Given the description of an element on the screen output the (x, y) to click on. 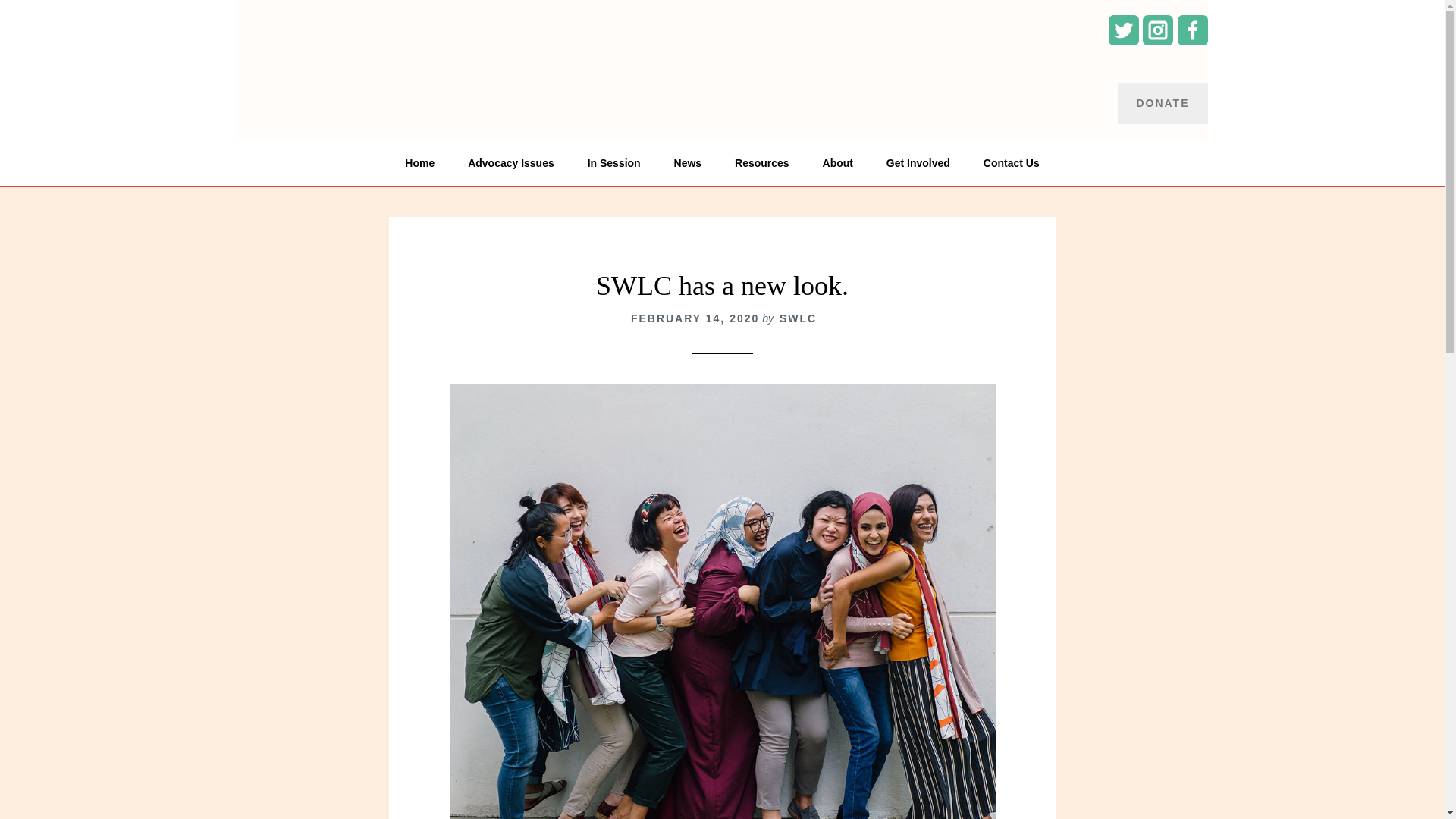
In Session (614, 162)
News (688, 162)
Southwest Women's Law Center (349, 45)
DONATE (1162, 102)
Home (419, 162)
Resources (762, 162)
DONATE (1162, 103)
Advocacy Issues (510, 162)
Get Involved (917, 162)
